Given the description of an element on the screen output the (x, y) to click on. 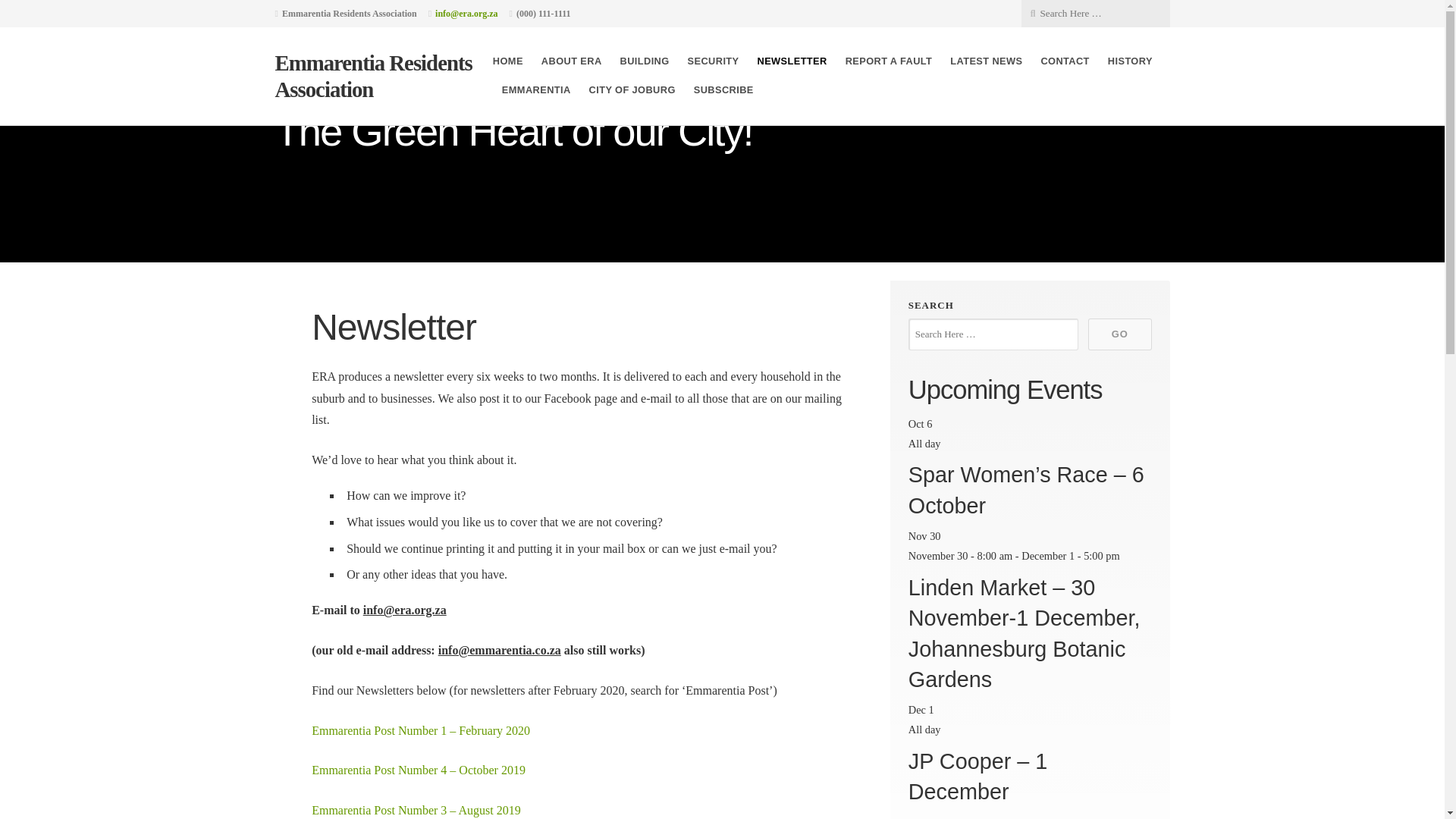
ABOUT ERA (571, 61)
SECURITY (713, 61)
BUILDING (644, 61)
Go (1119, 334)
Emmarentia Residents Association (373, 75)
HOME (507, 61)
Go (116, 12)
